Given the description of an element on the screen output the (x, y) to click on. 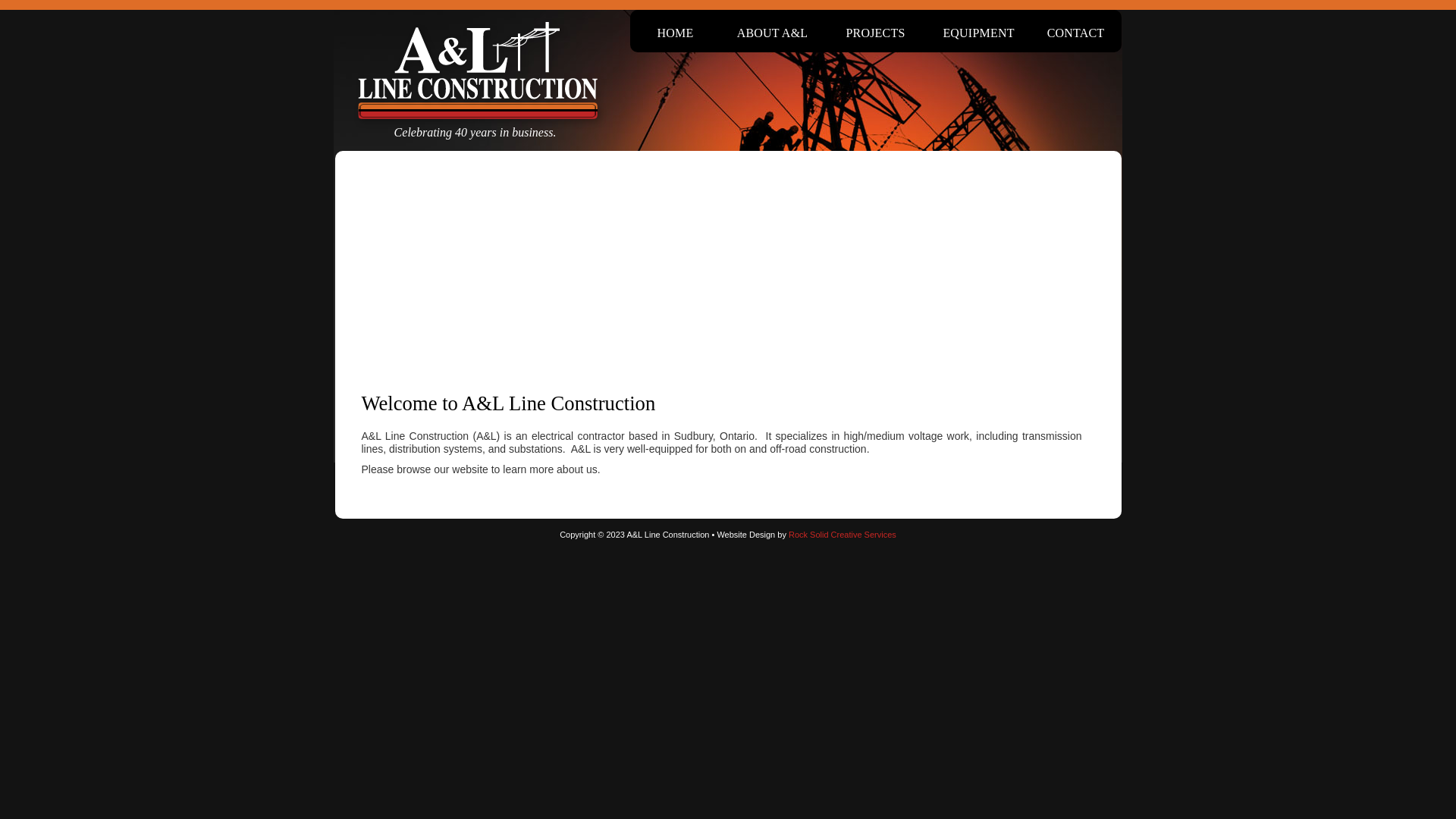
ABOUT A&L Element type: text (771, 32)
CONTACT Element type: text (1074, 32)
Rock Solid Creative Services Element type: text (842, 534)
EQUIPMENT Element type: text (977, 32)
PROJECTS Element type: text (874, 32)
HOME Element type: text (674, 32)
